Given the description of an element on the screen output the (x, y) to click on. 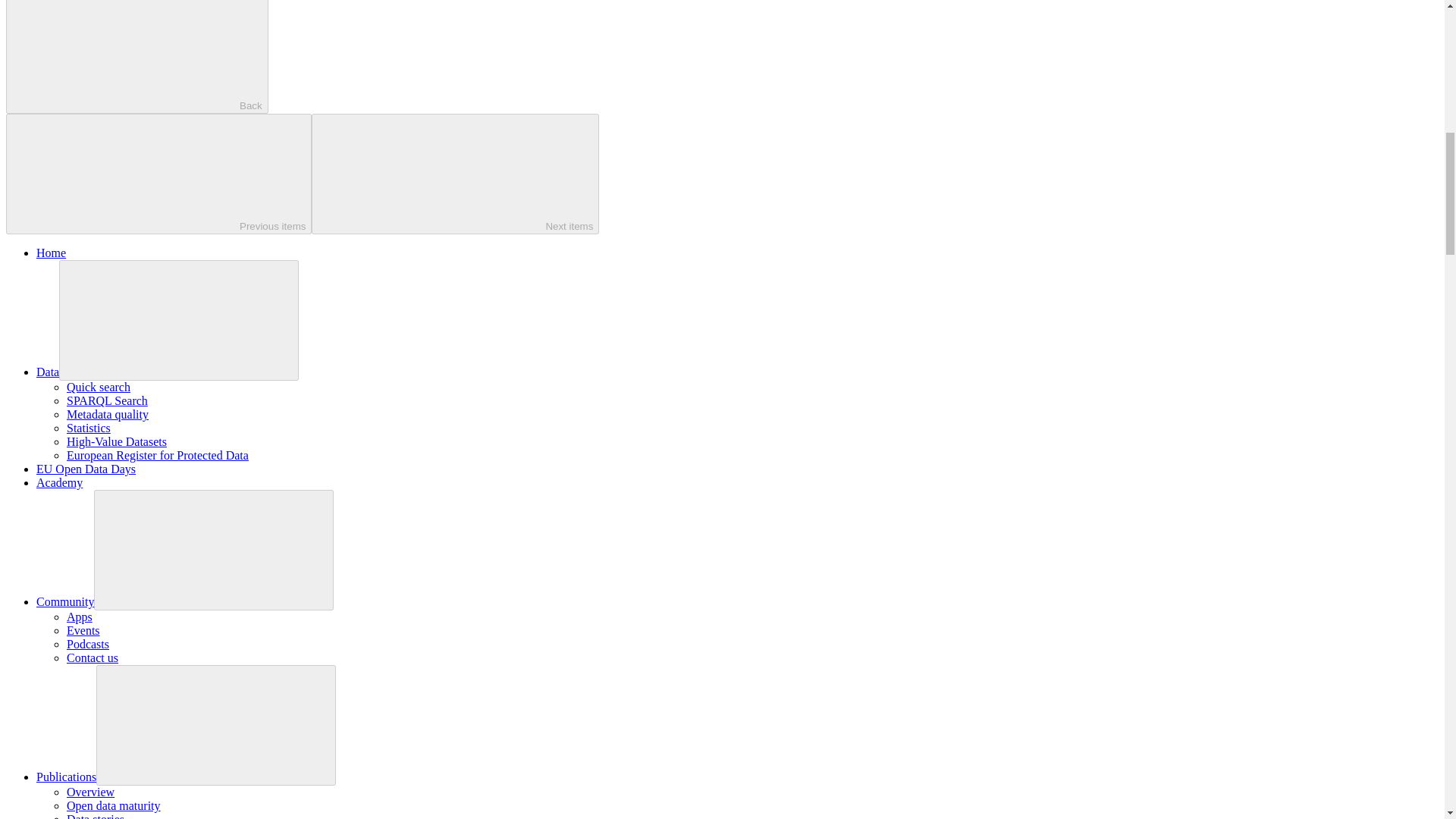
Home (50, 252)
Contact us (91, 657)
Publications (66, 776)
High-Value Datasets (116, 440)
Metadata quality (107, 413)
Quick search (98, 386)
Next items (454, 173)
SPARQL Search (107, 400)
Academy (59, 481)
Statistics (88, 427)
